Given the description of an element on the screen output the (x, y) to click on. 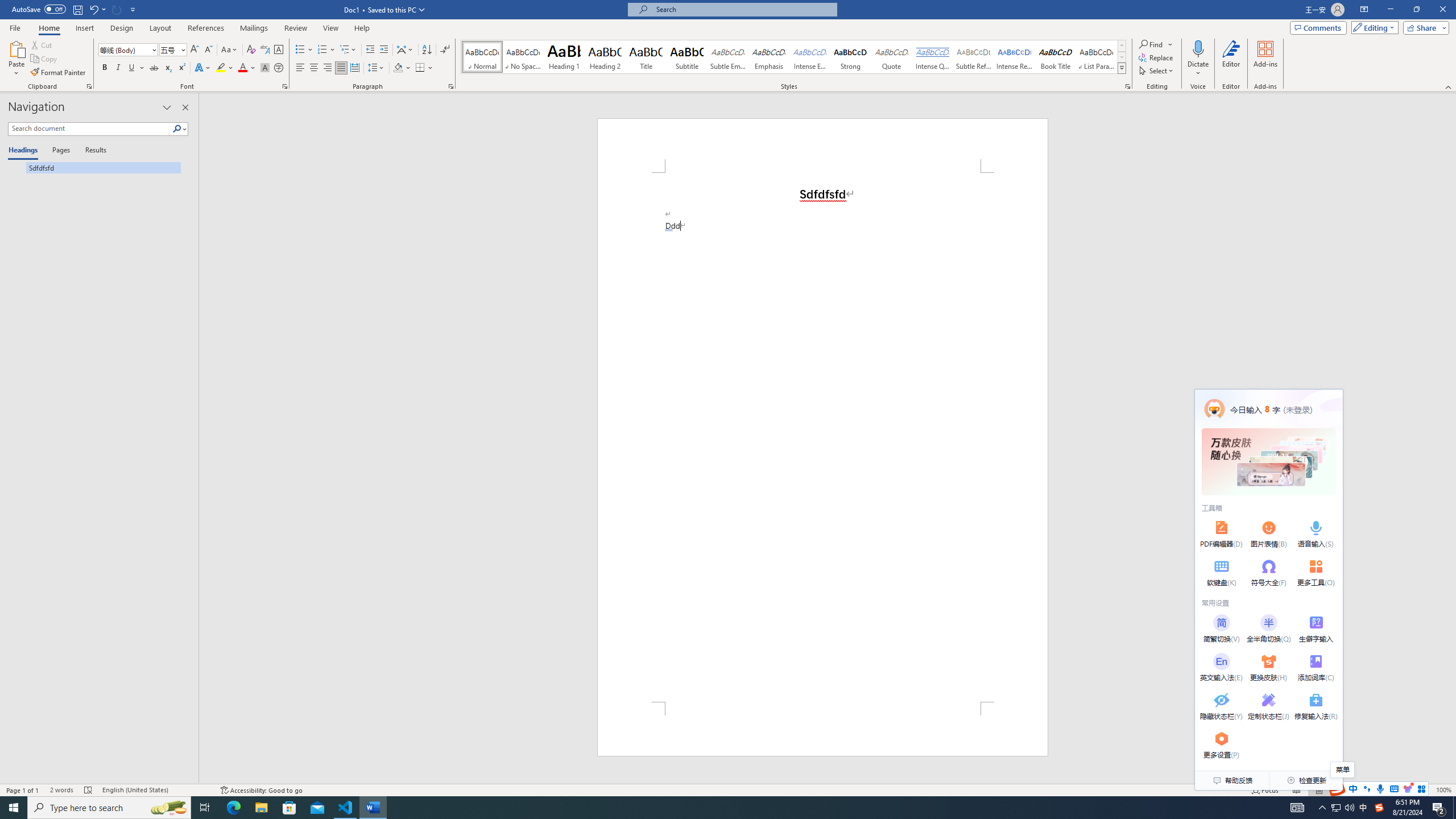
Quote (891, 56)
